Given the description of an element on the screen output the (x, y) to click on. 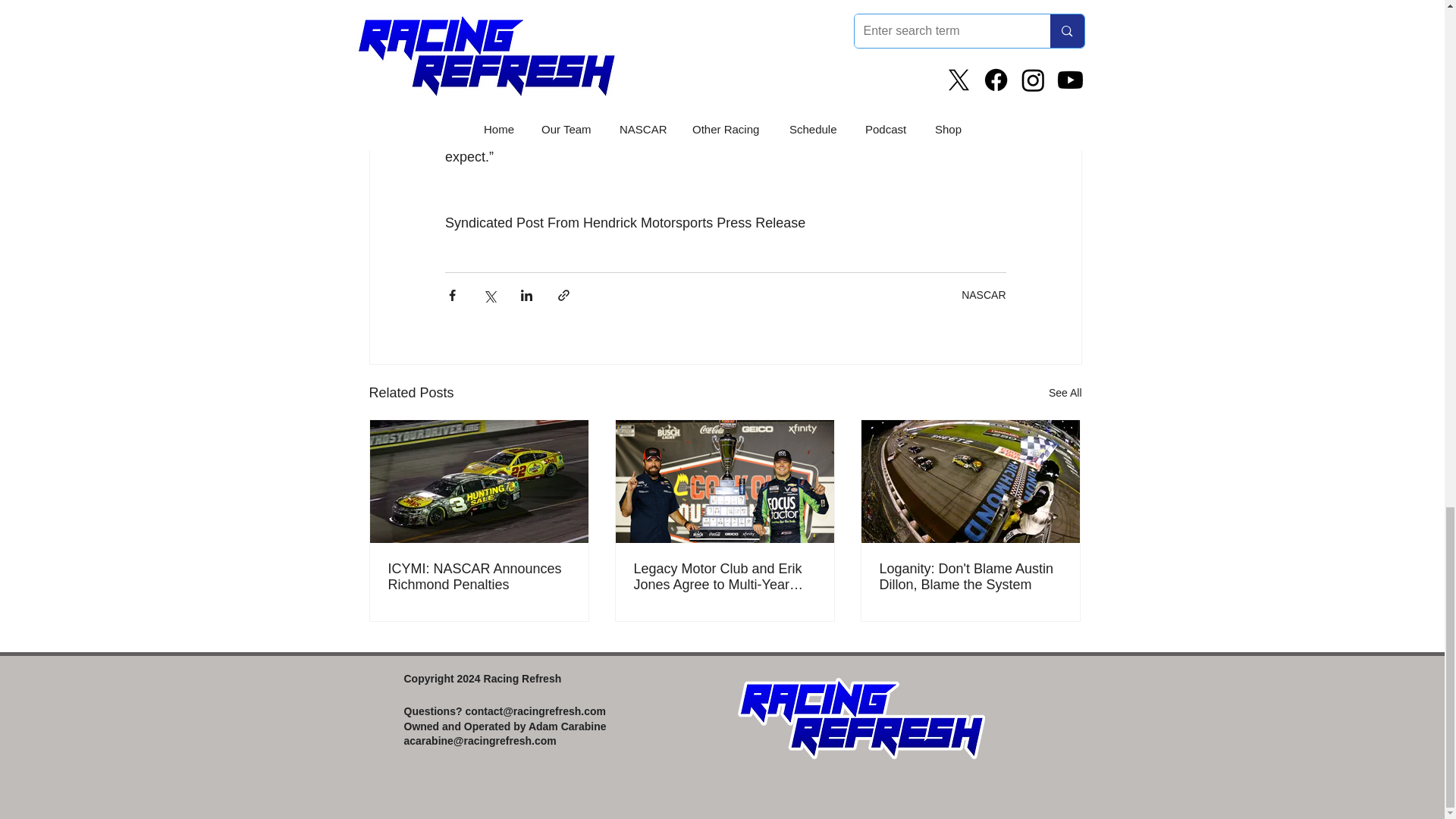
See All (1064, 393)
ICYMI: NASCAR Announces Richmond Penalties (479, 576)
Loganity: Don't Blame Austin Dillon, Blame the System (970, 576)
NASCAR (983, 295)
